Given the description of an element on the screen output the (x, y) to click on. 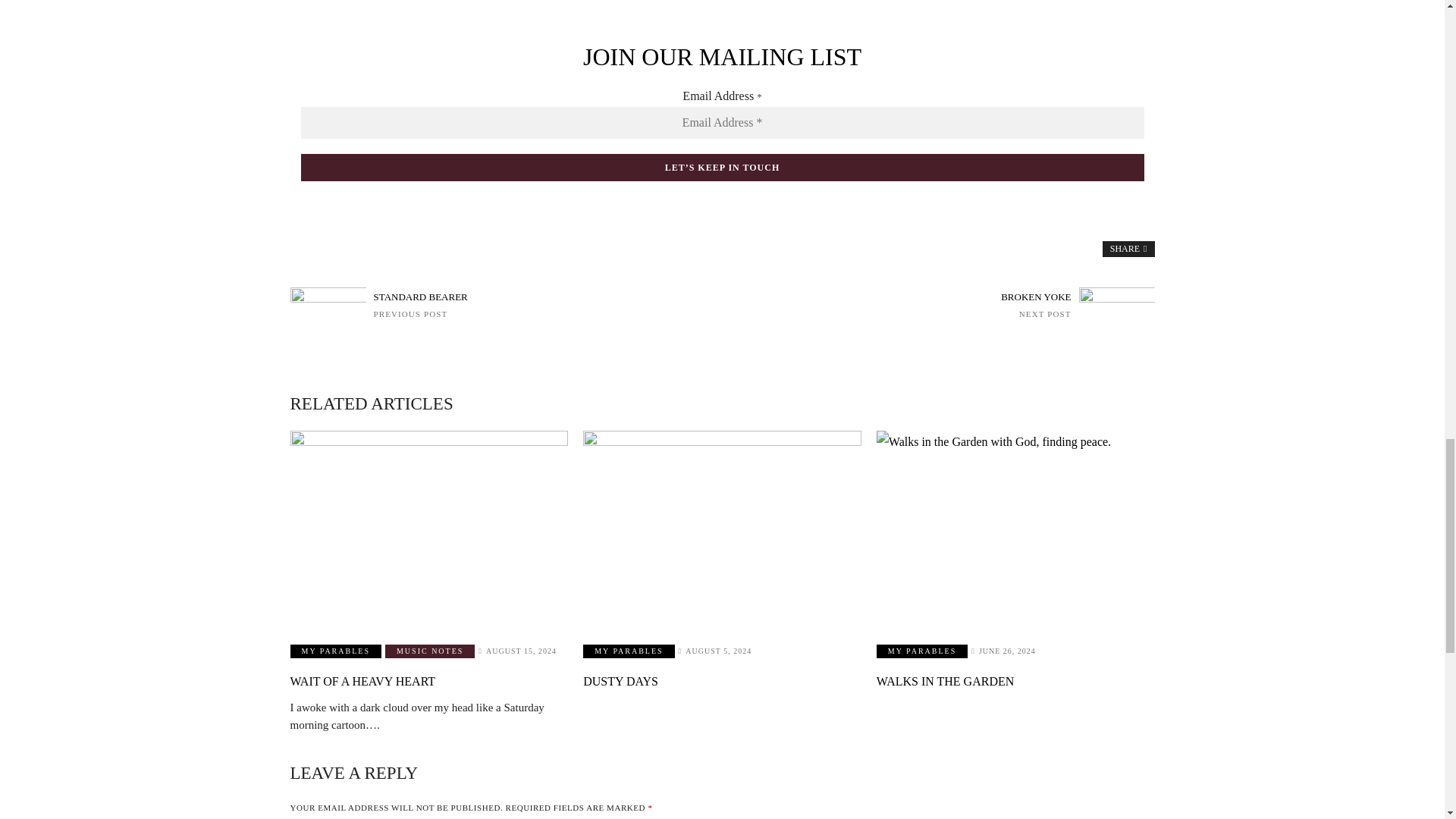
Dusty Days (722, 527)
MY PARABLES (503, 305)
Walks in the Garden (334, 651)
Email Address (1015, 527)
Wait of a Heavy Heart (720, 122)
